Given the description of an element on the screen output the (x, y) to click on. 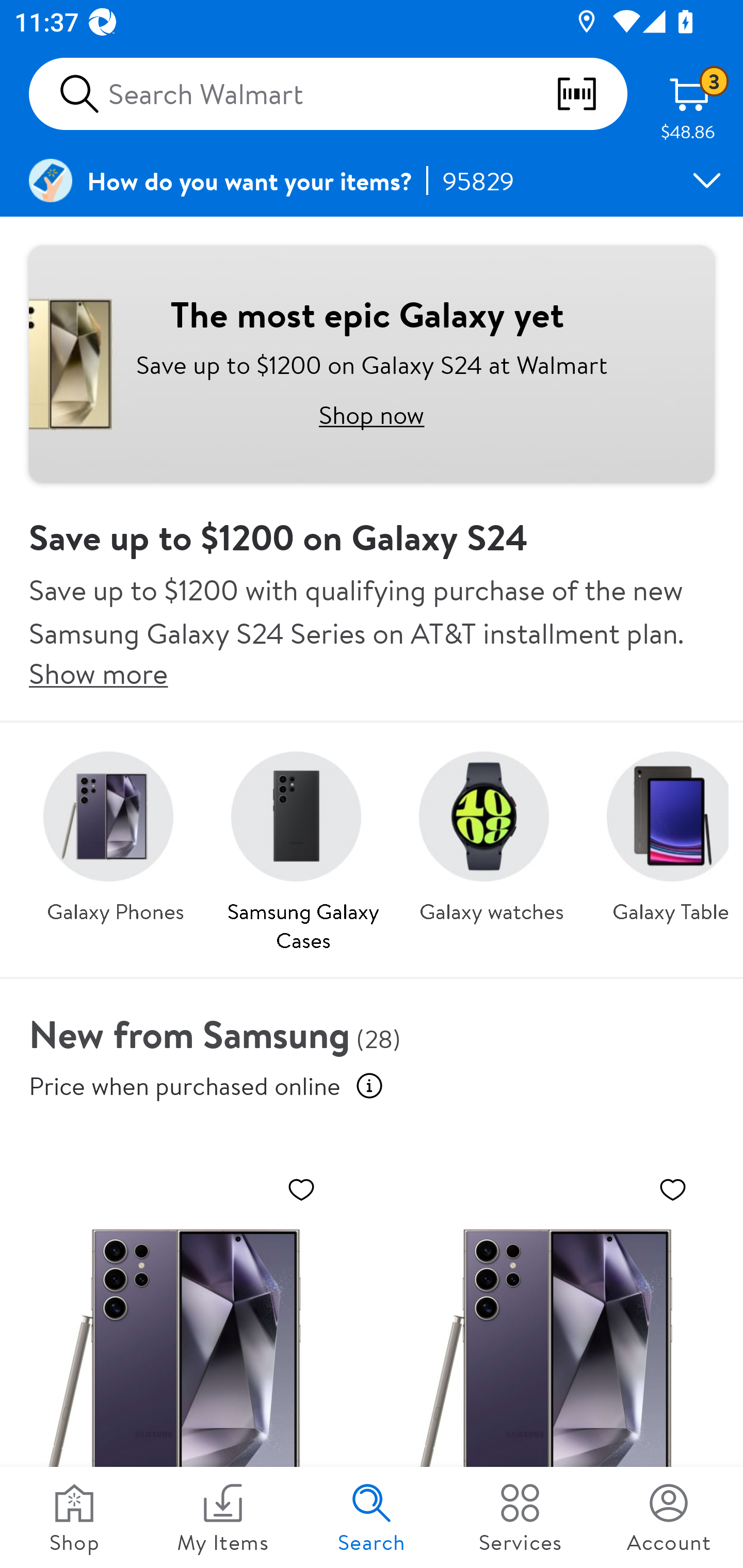
Search Walmart scan barcodes qr codes and more (327, 94)
scan barcodes qr codes and more (591, 94)
Shop now (371, 413)
Search by Galaxy Phones Galaxy Phones (115, 831)
Search by Galaxy watches Galaxy watches (491, 831)
Search by Galaxy Tablets Galaxy Tablets (660, 831)
Price when purchased online (184, 1085)
Price when purchased online (369, 1085)
Shop (74, 1517)
My Items (222, 1517)
Services (519, 1517)
Account (668, 1517)
